Given the description of an element on the screen output the (x, y) to click on. 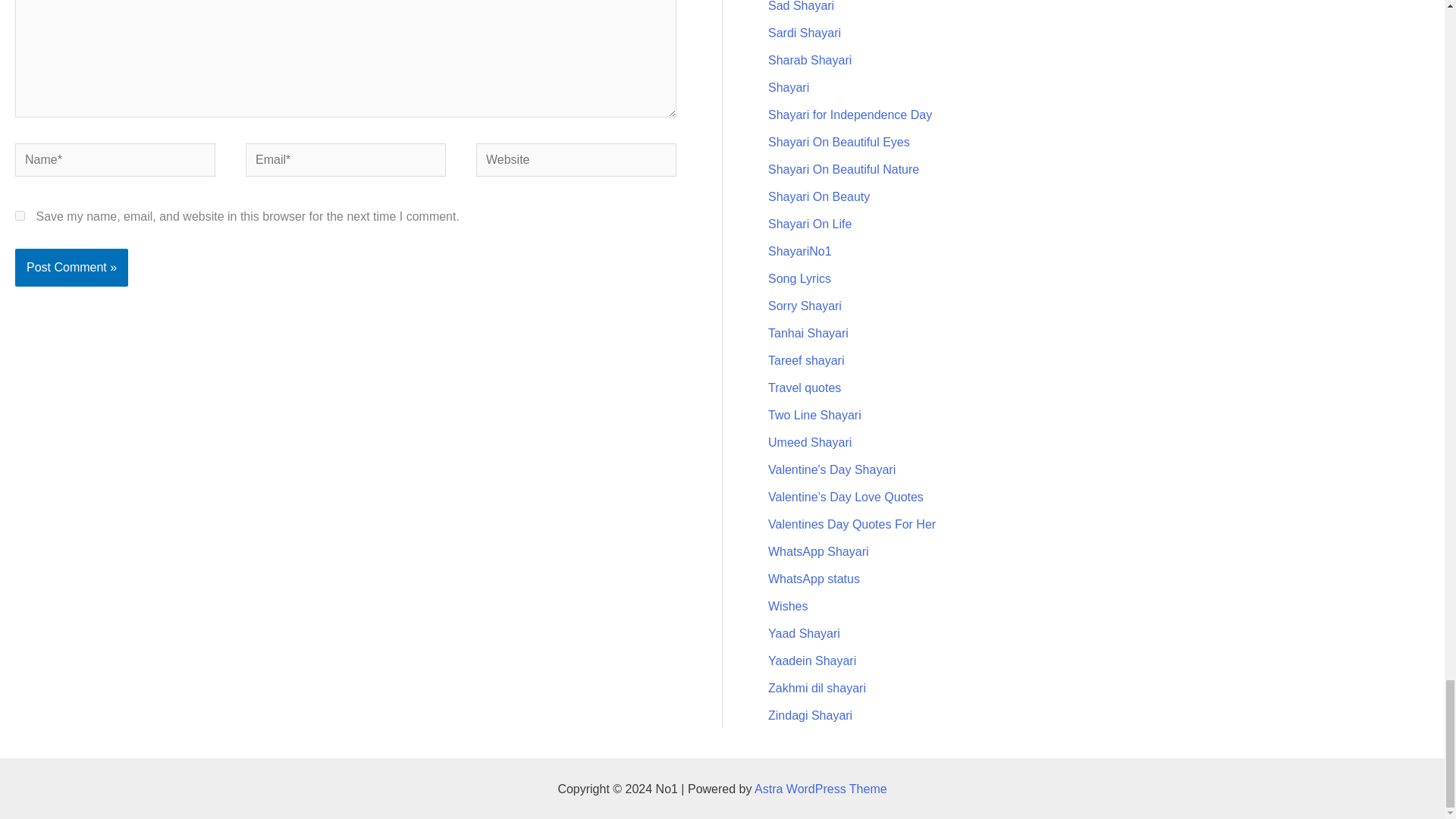
yes (19, 215)
